Given the description of an element on the screen output the (x, y) to click on. 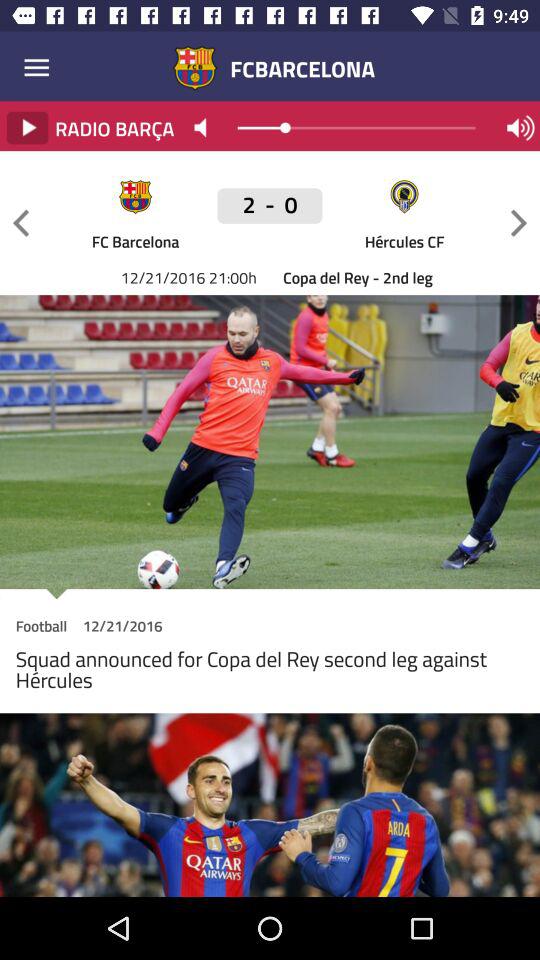
next (519, 222)
